Given the description of an element on the screen output the (x, y) to click on. 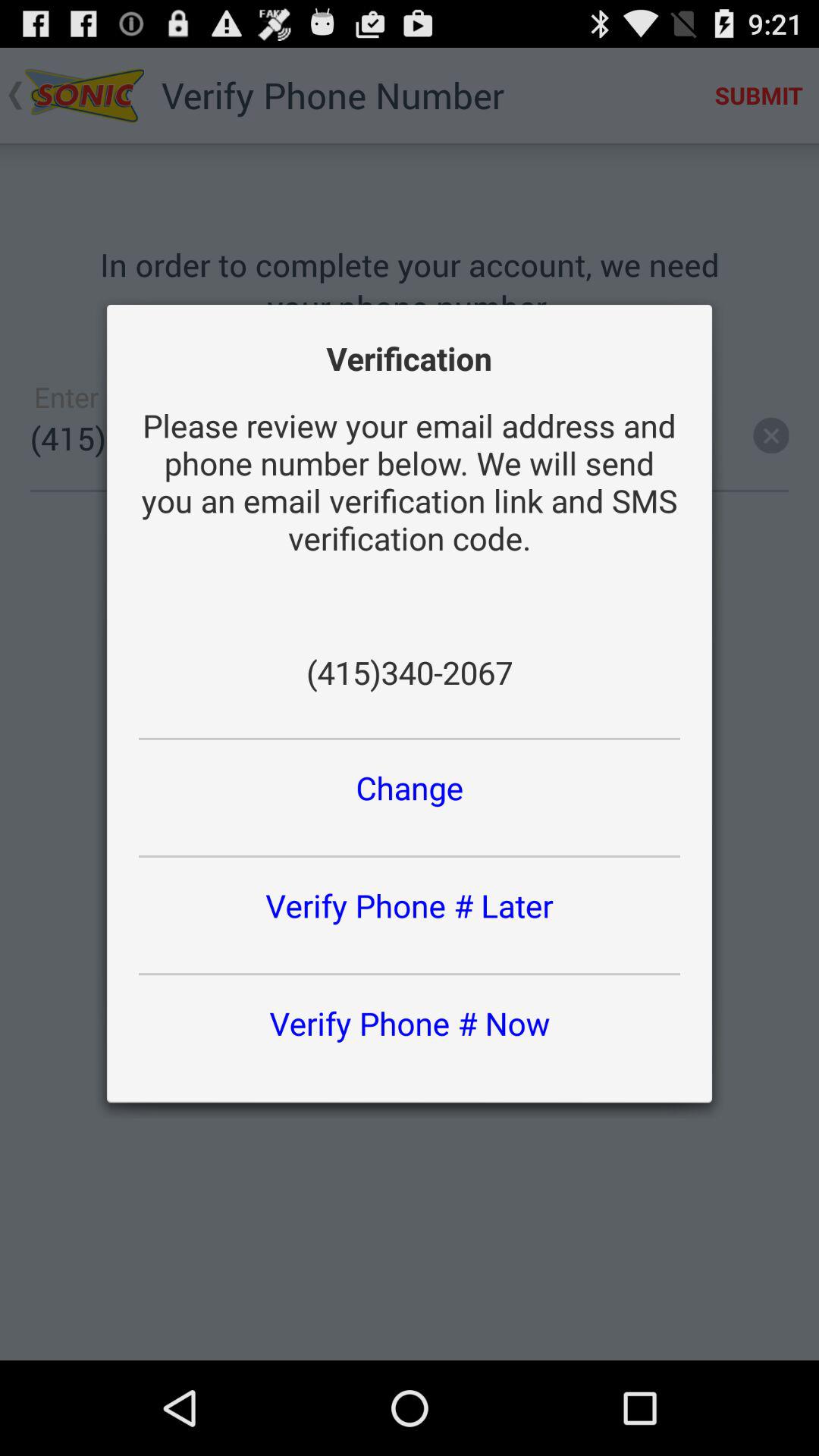
flip to change item (409, 787)
